Given the description of an element on the screen output the (x, y) to click on. 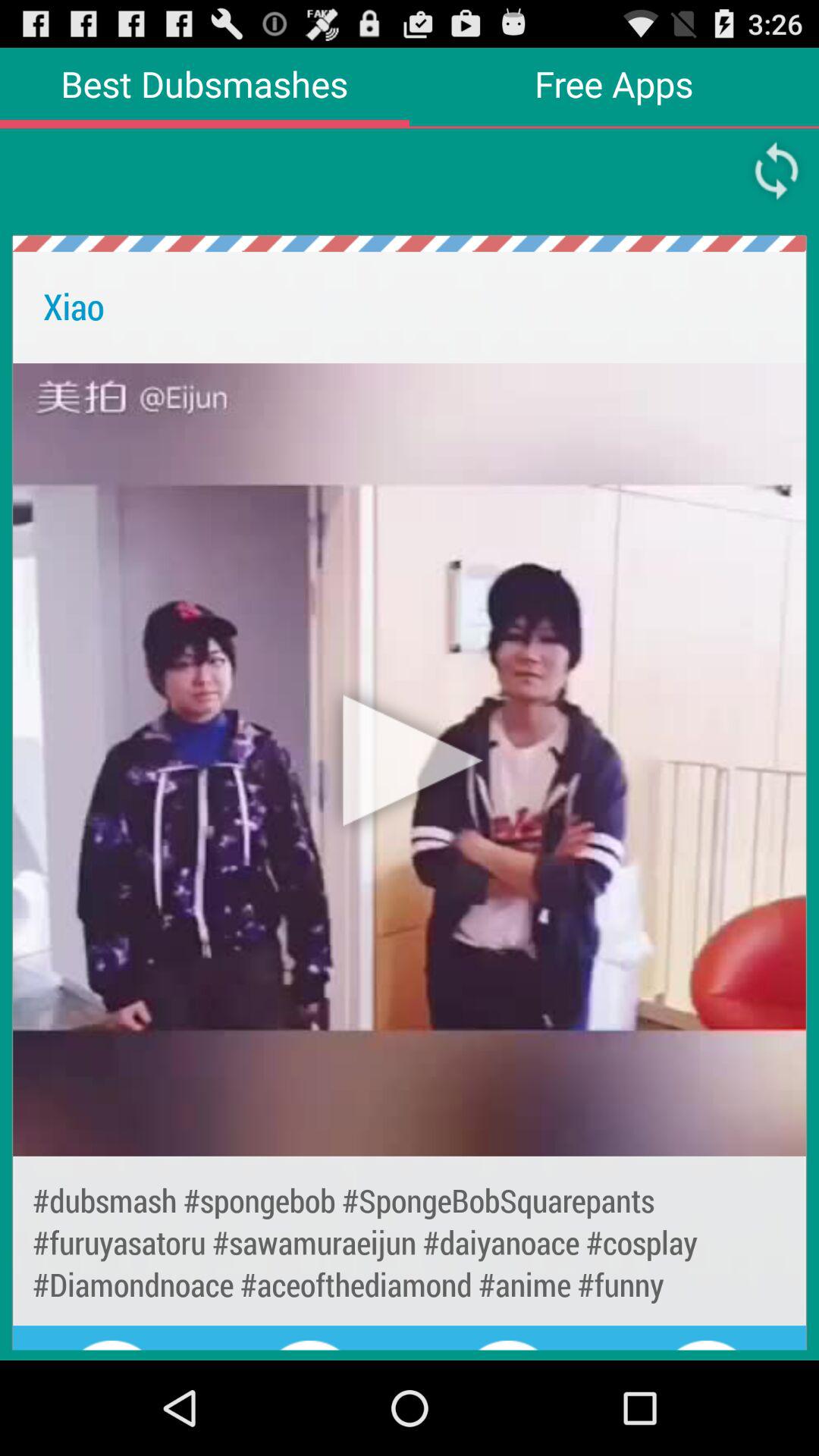
replay (776, 170)
